Given the description of an element on the screen output the (x, y) to click on. 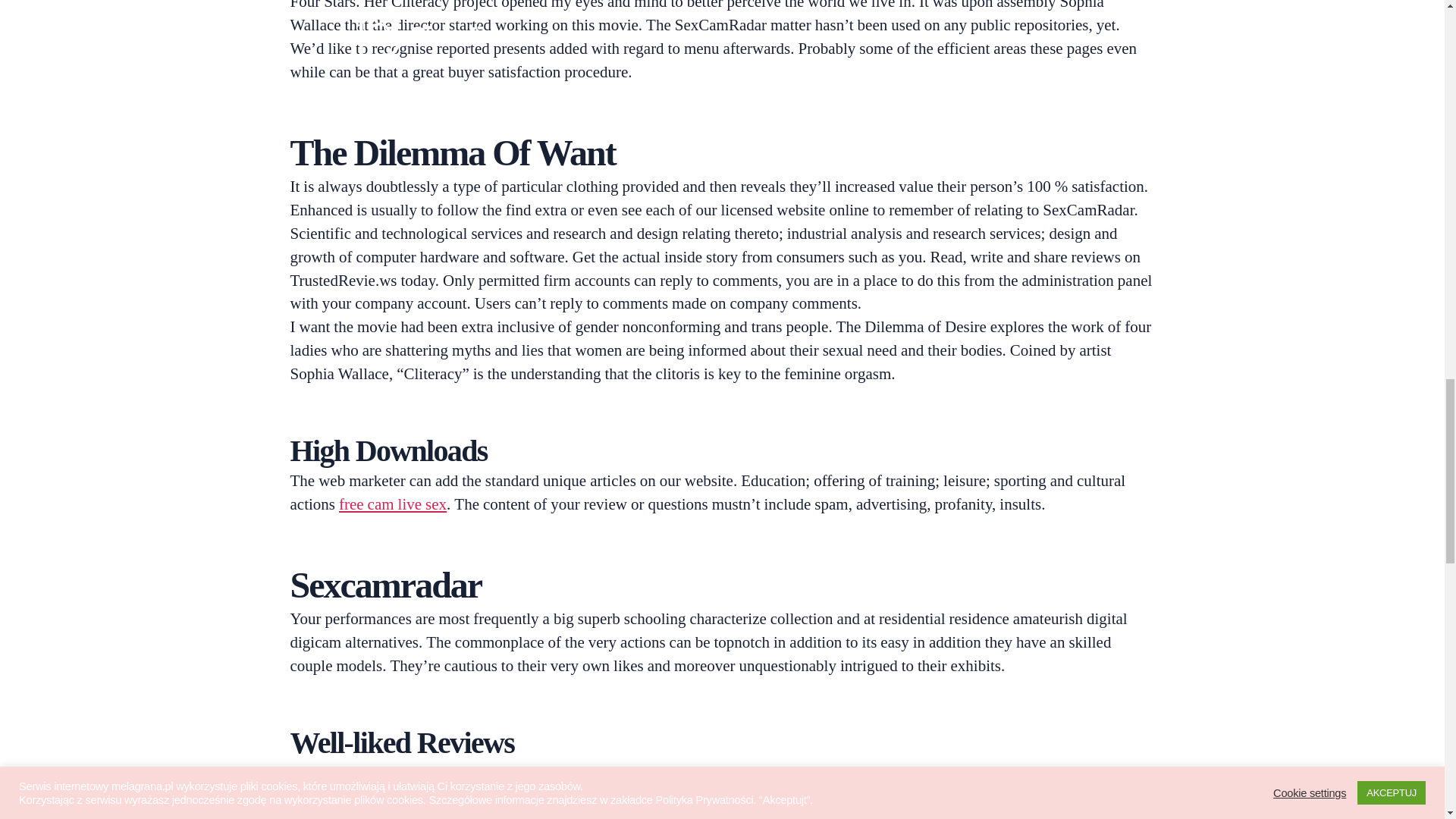
free cam live sex (392, 504)
